Given the description of an element on the screen output the (x, y) to click on. 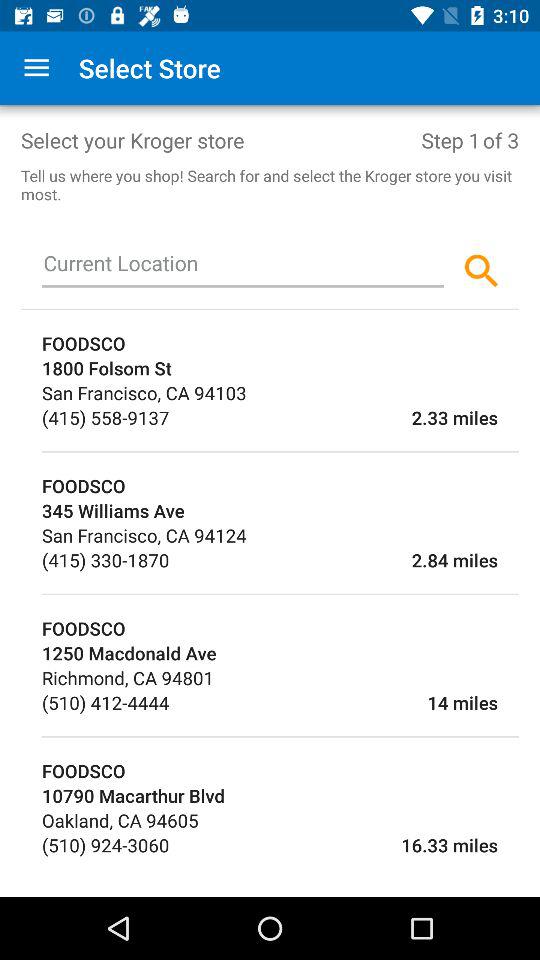
tap the item above the foodsco item (280, 451)
